Given the description of an element on the screen output the (x, y) to click on. 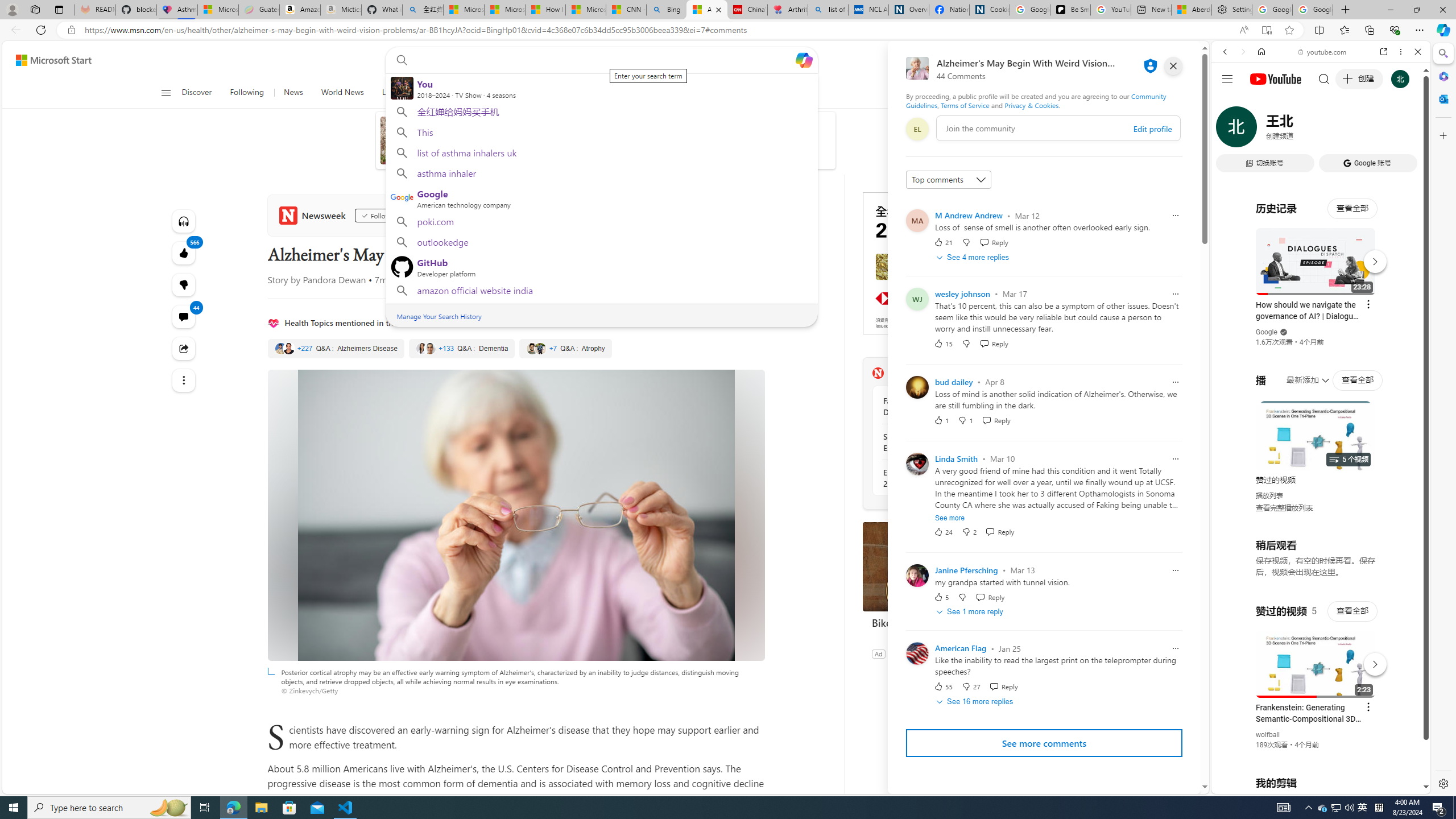
Class: qc-adchoices-link top-right  (1027, 196)
Newsweek (314, 215)
Click to scroll right (1407, 456)
Open navigation menu (164, 92)
anim-content (671, 144)
Terms of Service (965, 104)
Open settings (1175, 60)
#you (1320, 253)
Web search (398, 60)
Class: dict_pnIcon rms_img (1312, 784)
